Given the description of an element on the screen output the (x, y) to click on. 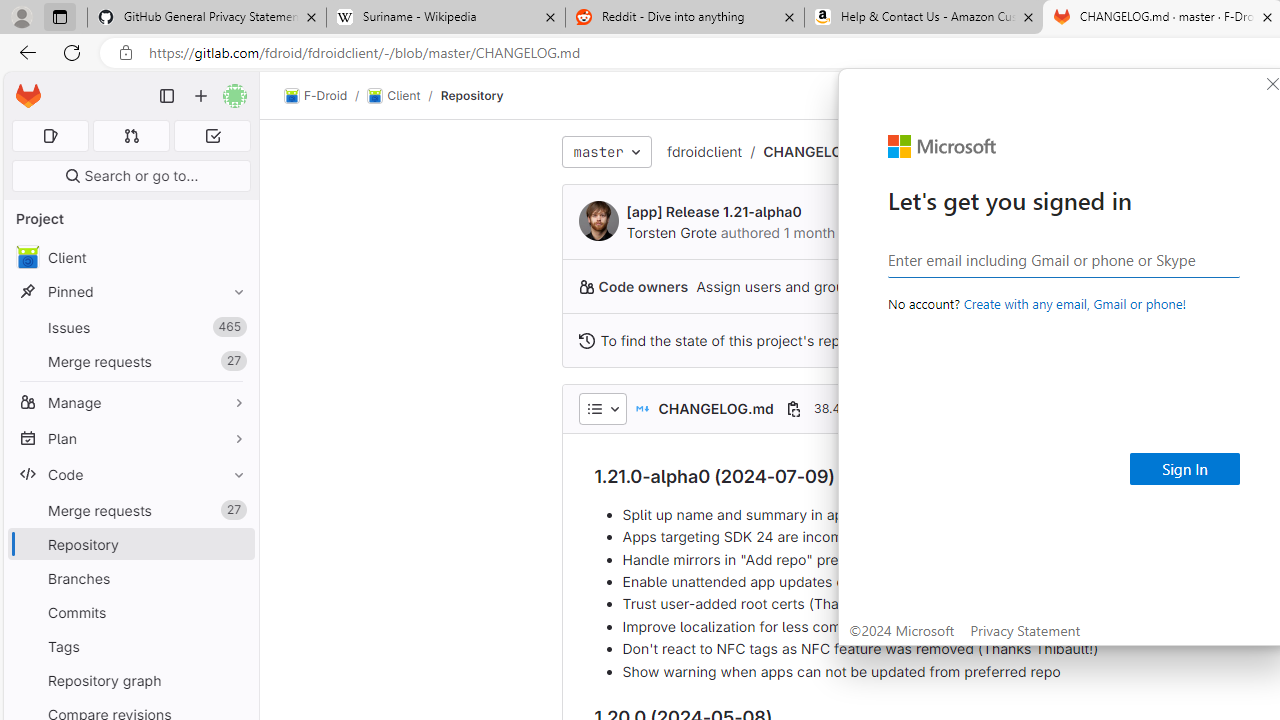
Commits (130, 612)
fdroidclient (703, 151)
Repository (472, 95)
Pin Branches (234, 578)
Pin Repository graph (234, 680)
Skip to main content (23, 87)
Code (130, 474)
Unpin Merge requests (234, 510)
Refresh (72, 52)
Merge requests27 (130, 510)
Pin Repository (234, 544)
Homepage (27, 96)
Torsten Grote's avatar (598, 220)
